Given the description of an element on the screen output the (x, y) to click on. 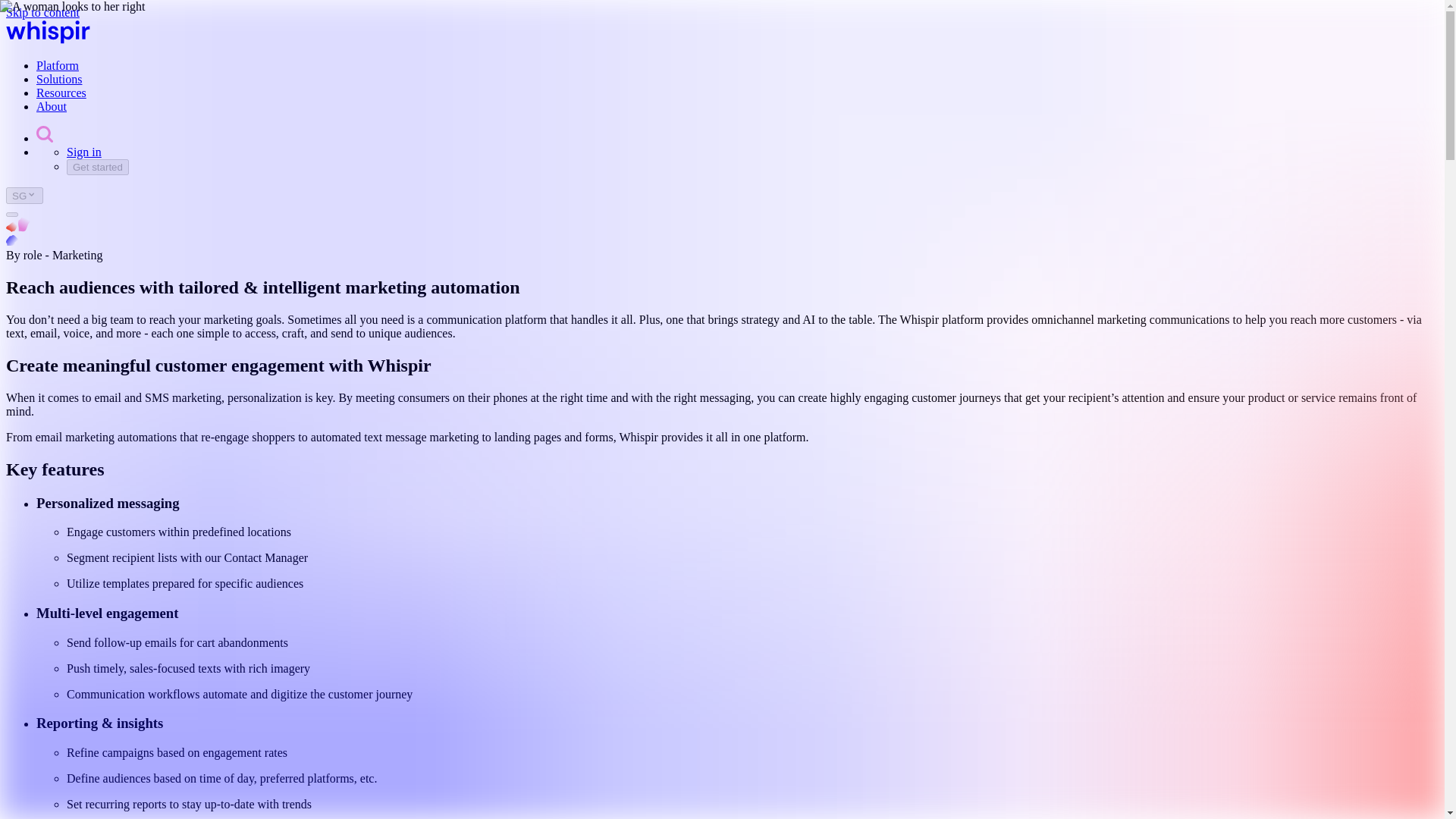
Platform (57, 65)
About (51, 106)
Whispir (47, 39)
Skip to content (42, 11)
Sign in (83, 151)
Resources (60, 92)
Solutions (58, 78)
SG (24, 195)
Get started (97, 166)
Whispir (47, 31)
